Given the description of an element on the screen output the (x, y) to click on. 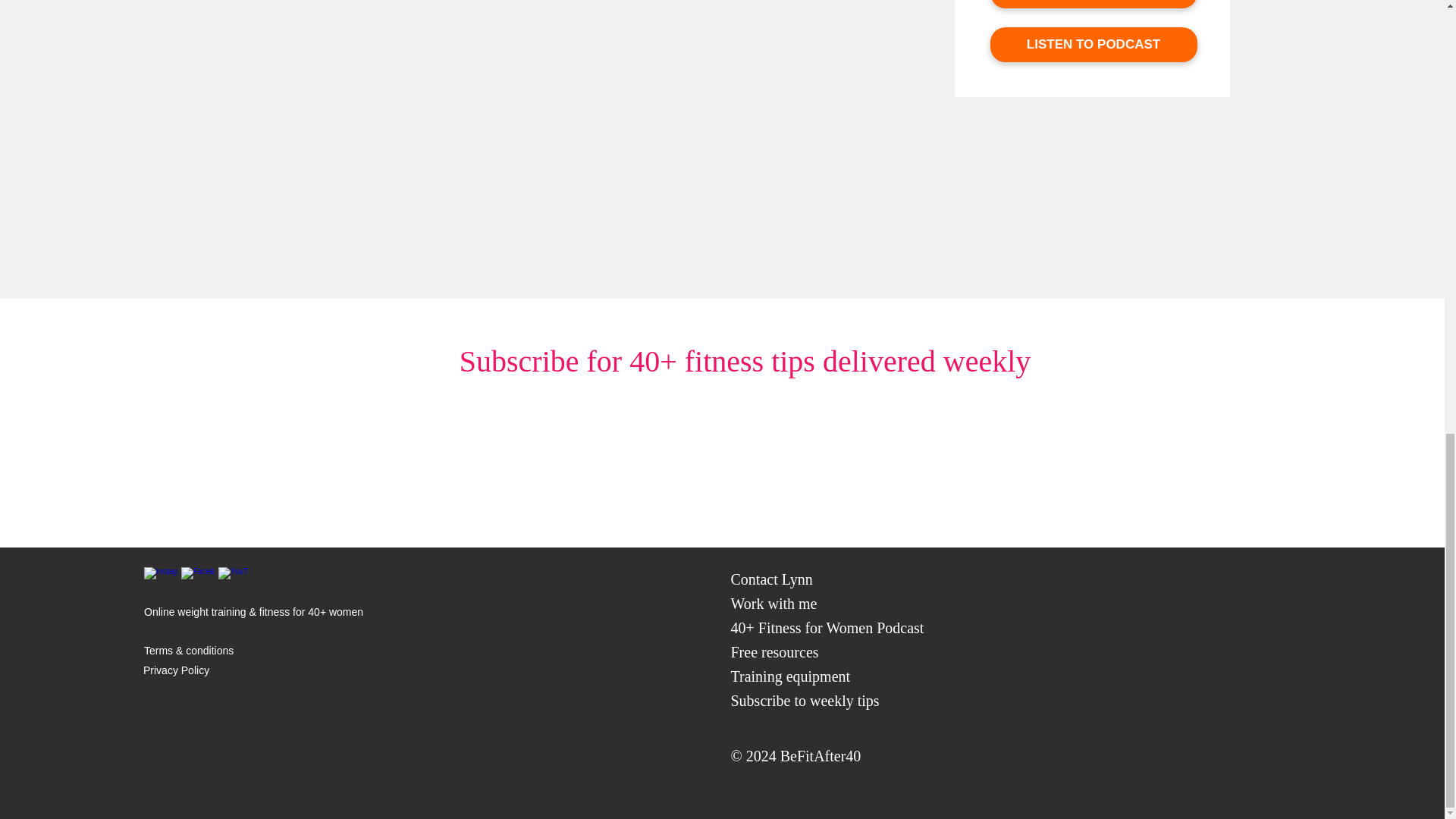
Subscribe to weekly tips (804, 700)
FREE RESOURCES (1093, 4)
LISTEN TO PODCAST (1093, 44)
Work with me (773, 603)
Privacy Policy (175, 670)
Training equipment (790, 676)
Contact Lynn (771, 579)
Free resources (774, 651)
